Given the description of an element on the screen output the (x, y) to click on. 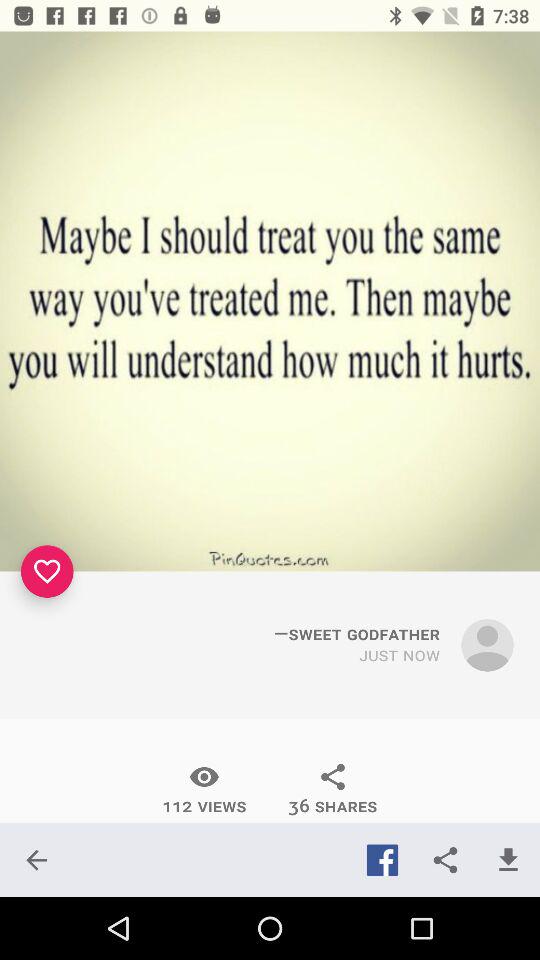
press icon next to the 36 shares (204, 789)
